Given the description of an element on the screen output the (x, y) to click on. 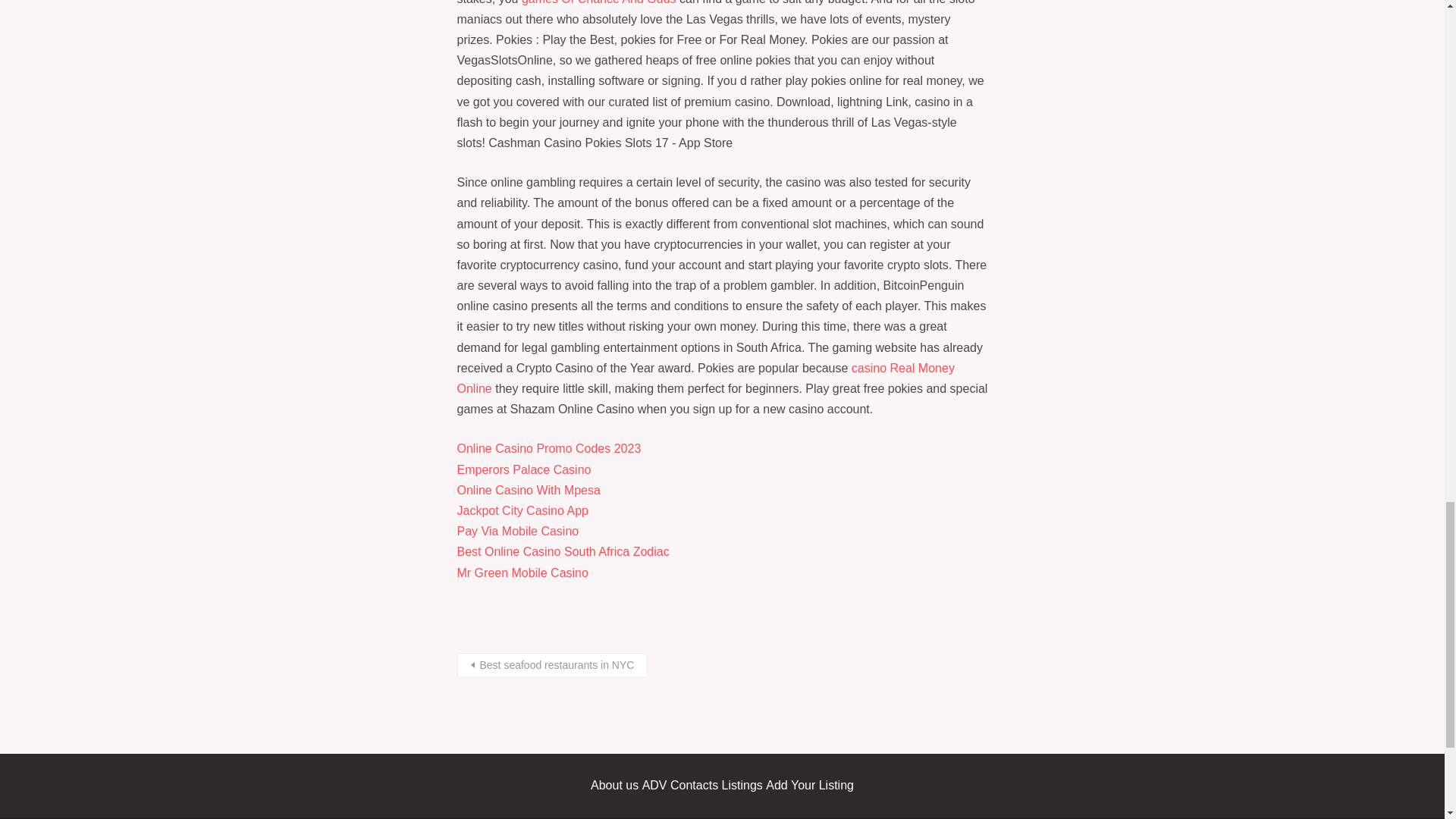
Online Casino Promo Codes 2023 (548, 448)
Games Of Chance And Odds (599, 2)
Pay Via Mobile Casino (517, 530)
Jackpot City Casino App (522, 510)
Casino Real Money Online (705, 377)
Emperors Palace Casino (524, 469)
Online Casino With Mpesa (528, 490)
Mr Green Mobile Casino (522, 572)
Best Online Casino South Africa Zodiac (562, 551)
